Given the description of an element on the screen output the (x, y) to click on. 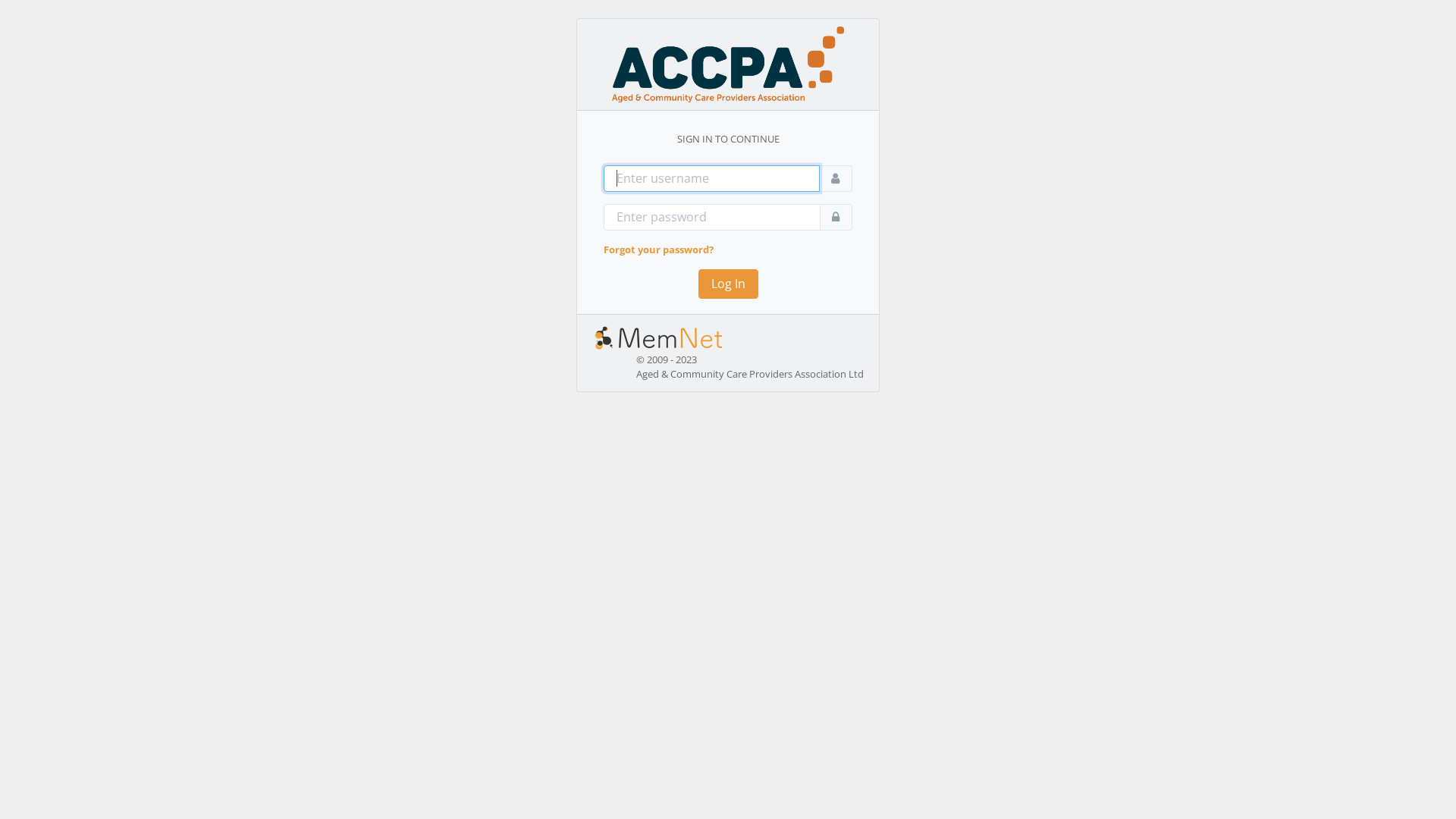
Log In Element type: text (727, 283)
Forgot your password? Element type: text (658, 249)
